Given the description of an element on the screen output the (x, y) to click on. 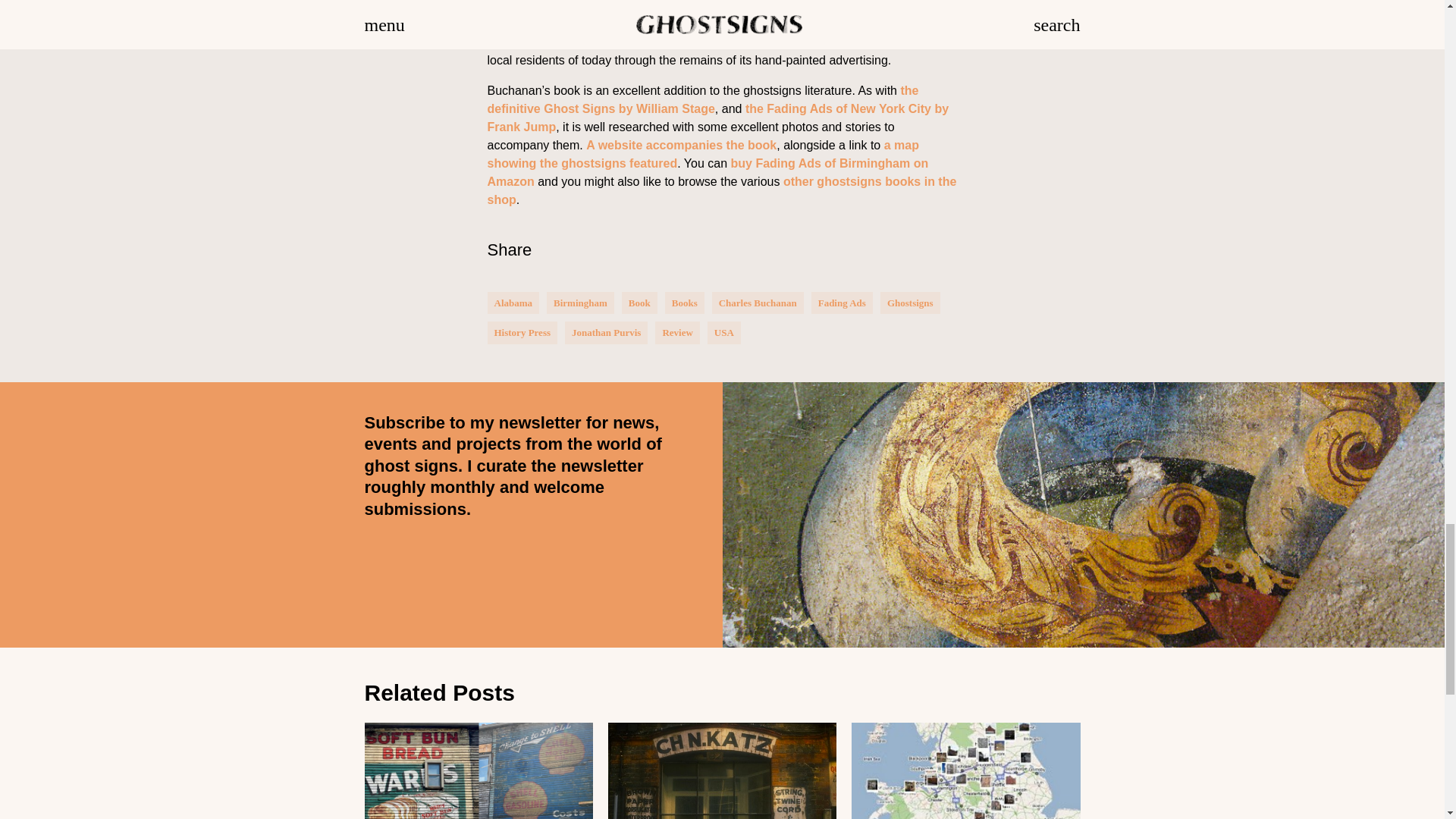
Map showing ghostsigns in Birmingham, Alabama (702, 153)
Birmingham (580, 302)
Book (639, 302)
A website accompanies the book (681, 144)
the Fading Ads of New York City by Frank Jump (717, 117)
other ghostsigns books in the shop (721, 190)
buy Fading Ads of Birmingham on Amazon (707, 172)
Share (508, 250)
Review of Ghost Signs by William Stage (702, 99)
Charles Buchanan (757, 302)
Review of Fading Ads of New York City (717, 117)
a map showing the ghostsigns featured (702, 153)
Books (684, 302)
the definitive Ghost Signs by William Stage (702, 99)
Books about ghostsigns (721, 190)
